Given the description of an element on the screen output the (x, y) to click on. 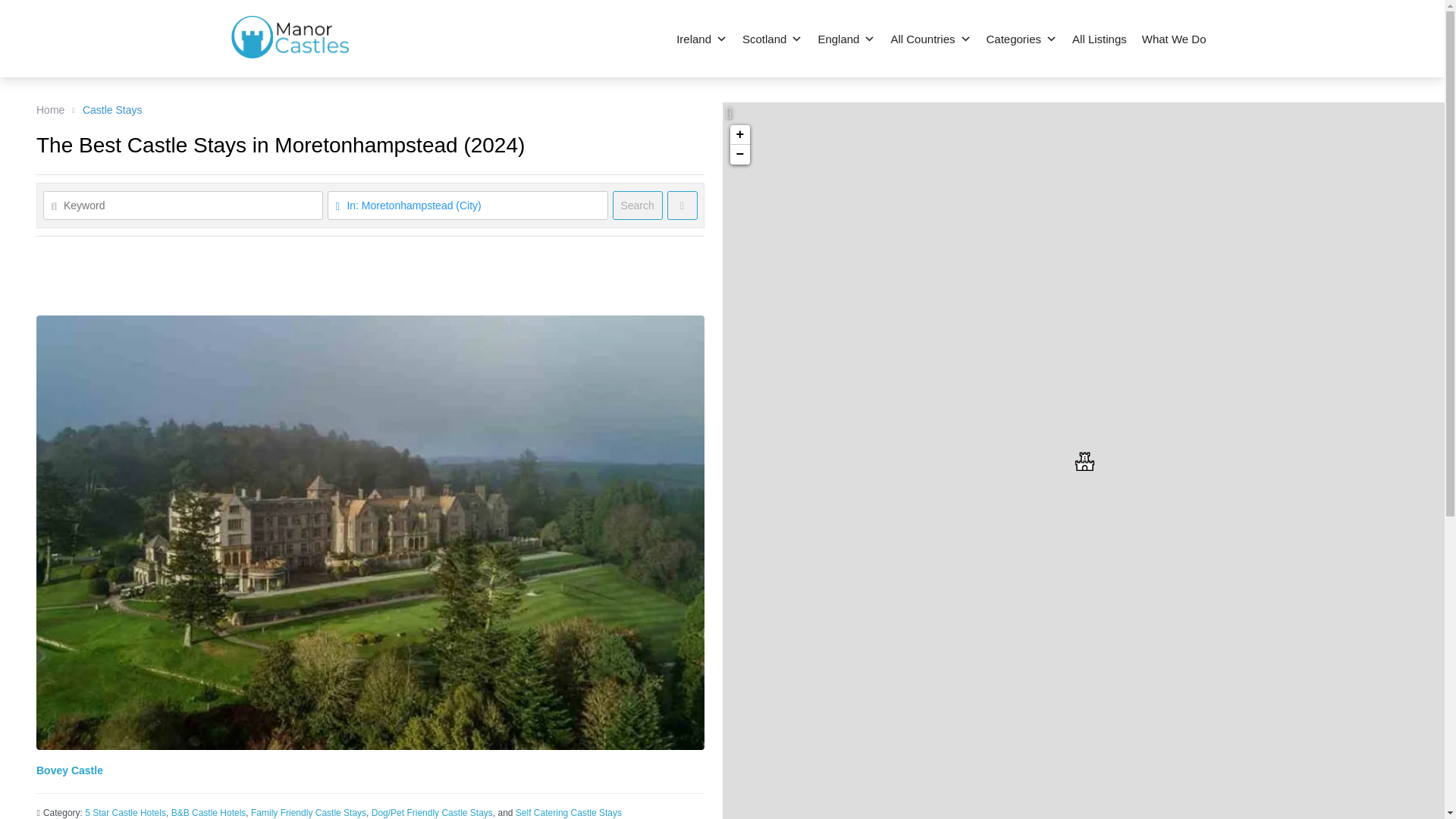
Scotland (772, 39)
Bovey Castle (1083, 460)
All Countries (930, 39)
Zoom in (739, 134)
Ireland (701, 39)
Categories (1021, 39)
England (845, 39)
Zoom out (739, 154)
What We Do (1174, 39)
View: Bovey Castle (69, 770)
